Given the description of an element on the screen output the (x, y) to click on. 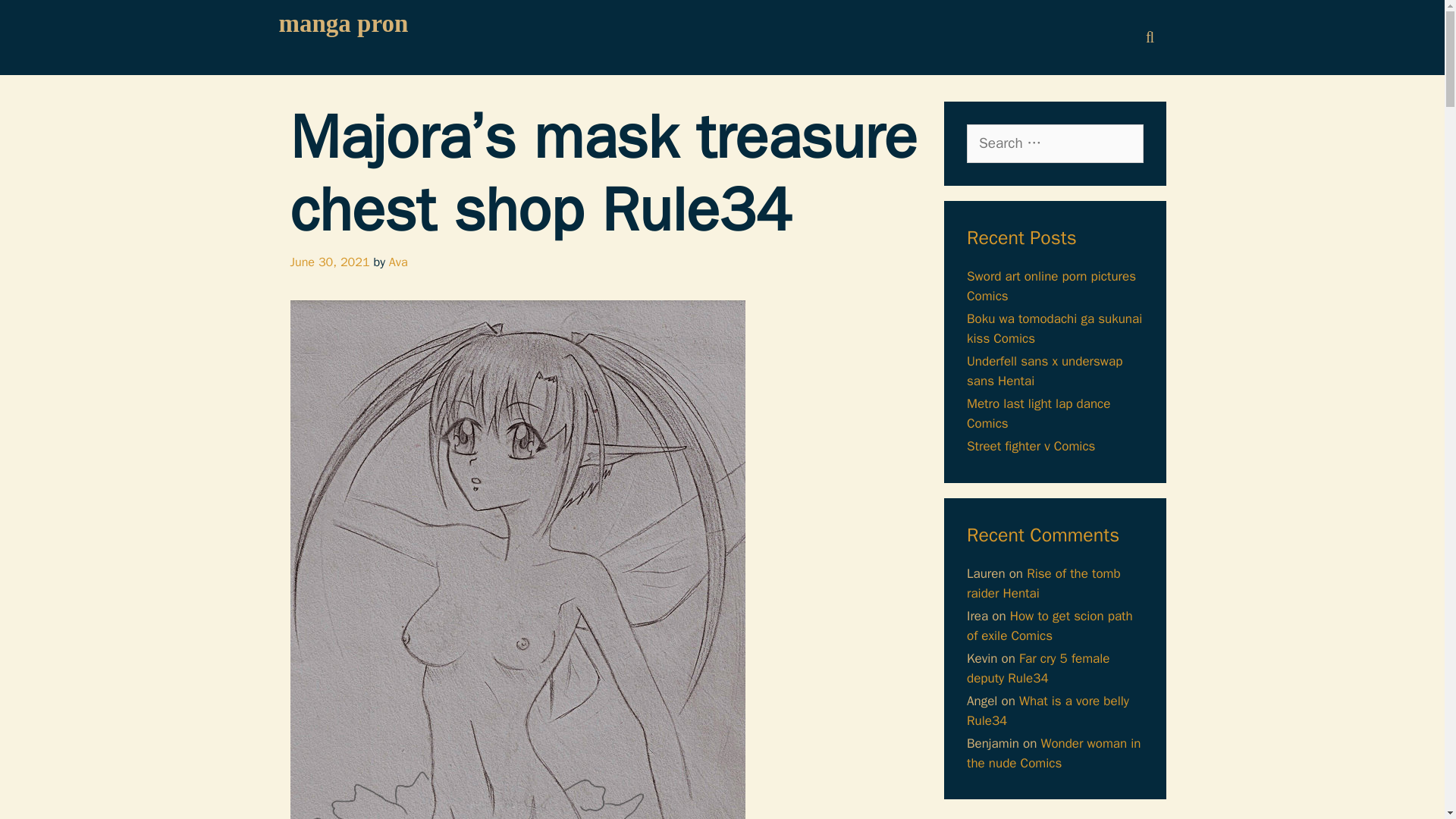
Search (35, 19)
Rise of the tomb raider Hentai (1043, 583)
What is a vore belly Rule34 (1047, 710)
How to get scion path of exile Comics (1049, 625)
Search for: (1054, 143)
Far cry 5 female deputy Rule34 (1037, 668)
8:29 am (329, 261)
Wonder woman in the nude Comics (1053, 753)
Underfell sans x underswap sans Hentai (1044, 370)
Boku wa tomodachi ga sukunai kiss Comics (1053, 328)
